Given the description of an element on the screen output the (x, y) to click on. 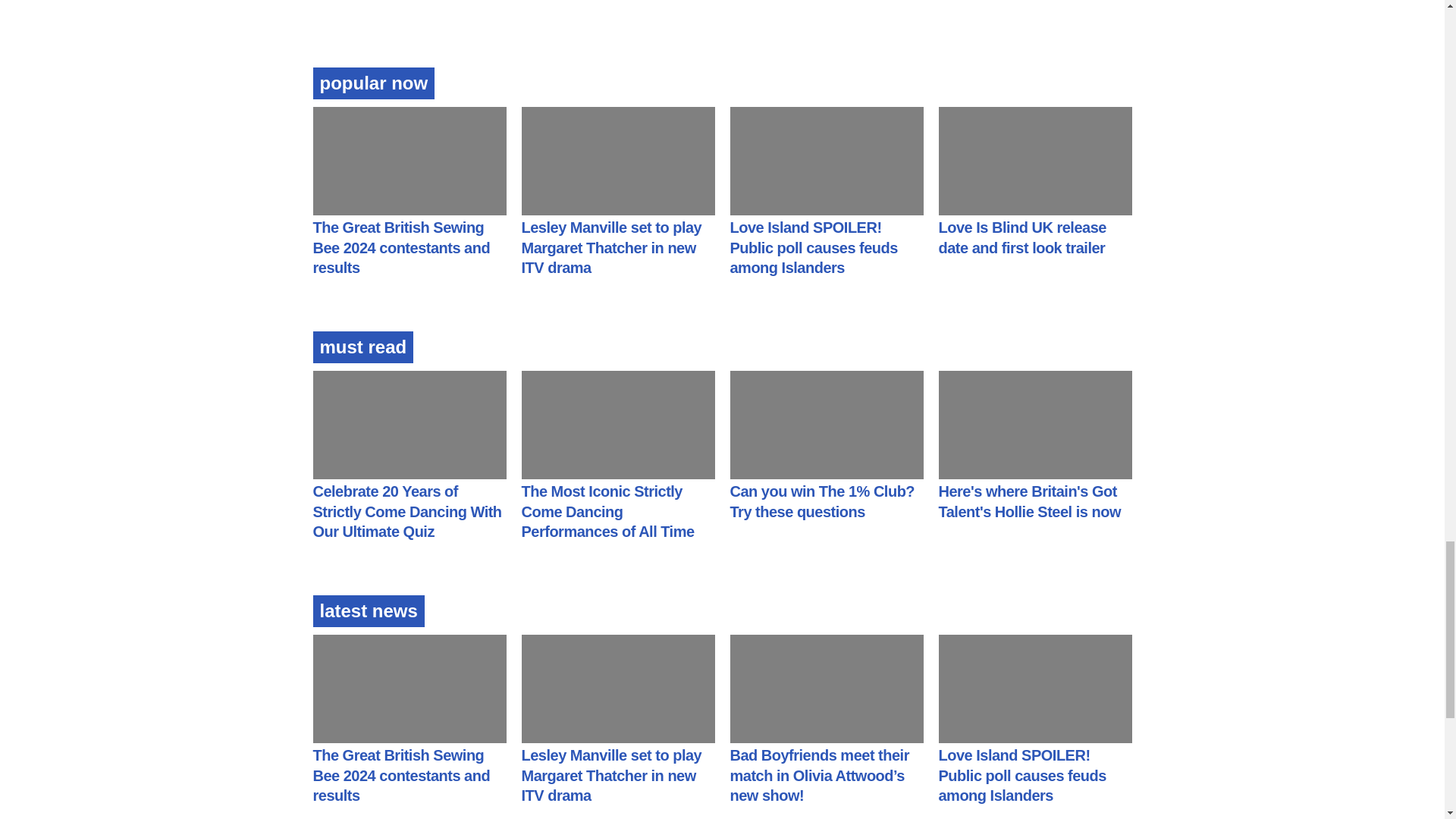
The Great British Sewing Bee 2024 contestants and results (401, 247)
Love Is Blind UK release date and first look trailer (1022, 237)
